Given the description of an element on the screen output the (x, y) to click on. 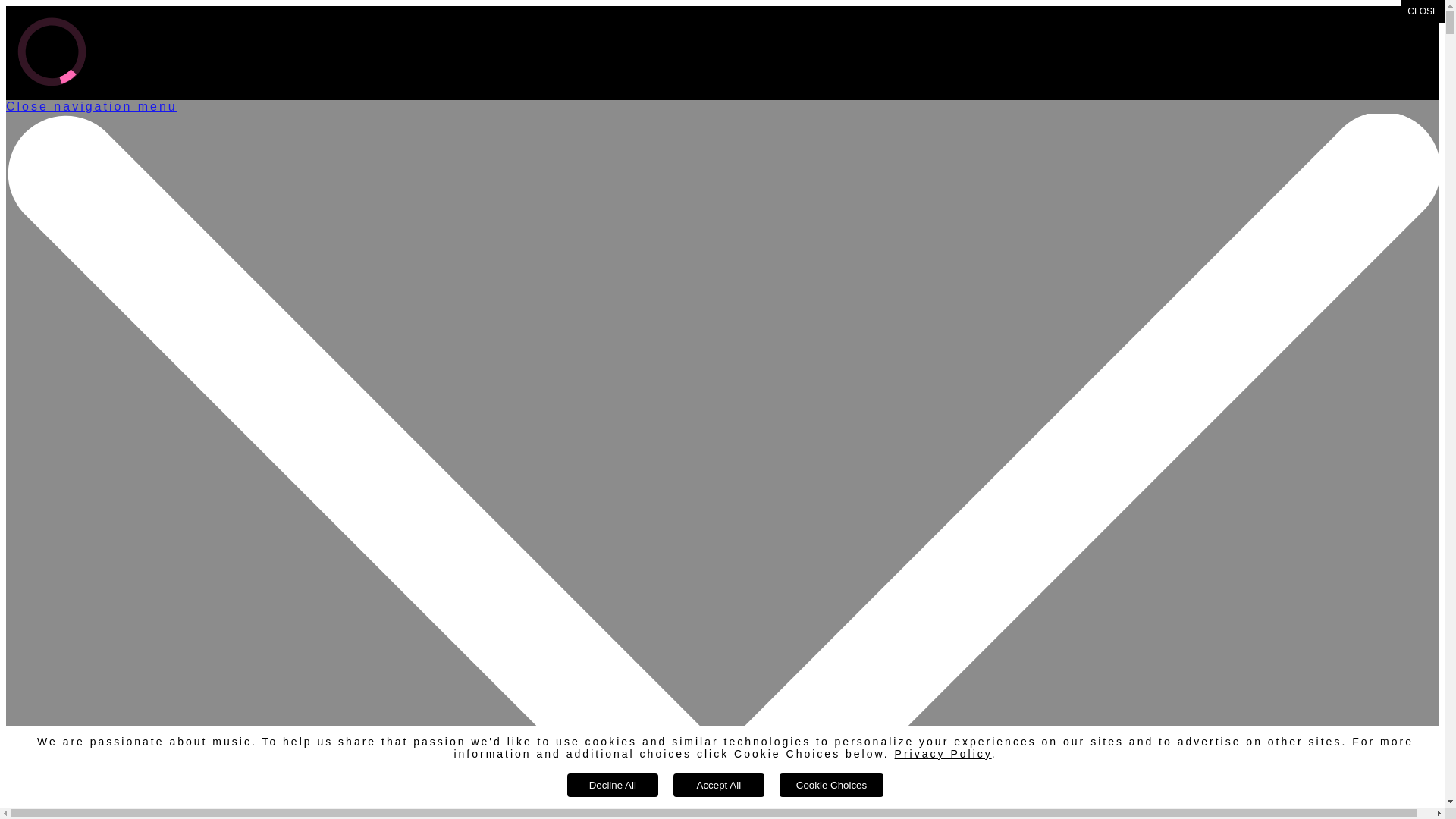
Decline All Element type: text (612, 785)
Privacy Policy Element type: text (942, 753)
CLOSE Element type: text (1422, 11)
Cookie Choices Element type: text (831, 785)
Accept All Element type: text (718, 785)
